Given the description of an element on the screen output the (x, y) to click on. 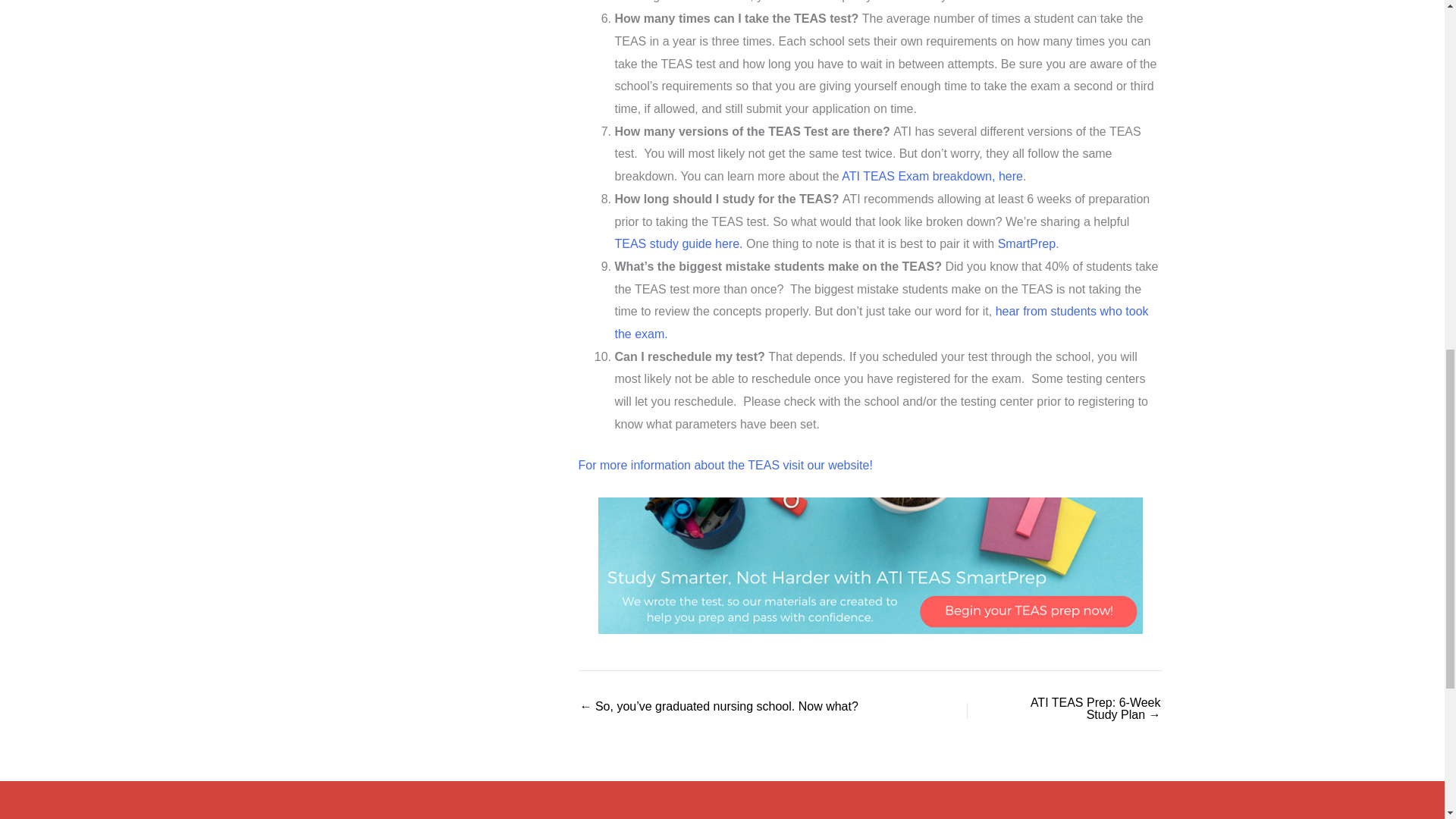
hear from students who took the exam. (881, 322)
TEAS study guide here. (678, 243)
SmartPrep (1026, 243)
ATI TEAS Exam breakdown, here (932, 175)
